Given the description of an element on the screen output the (x, y) to click on. 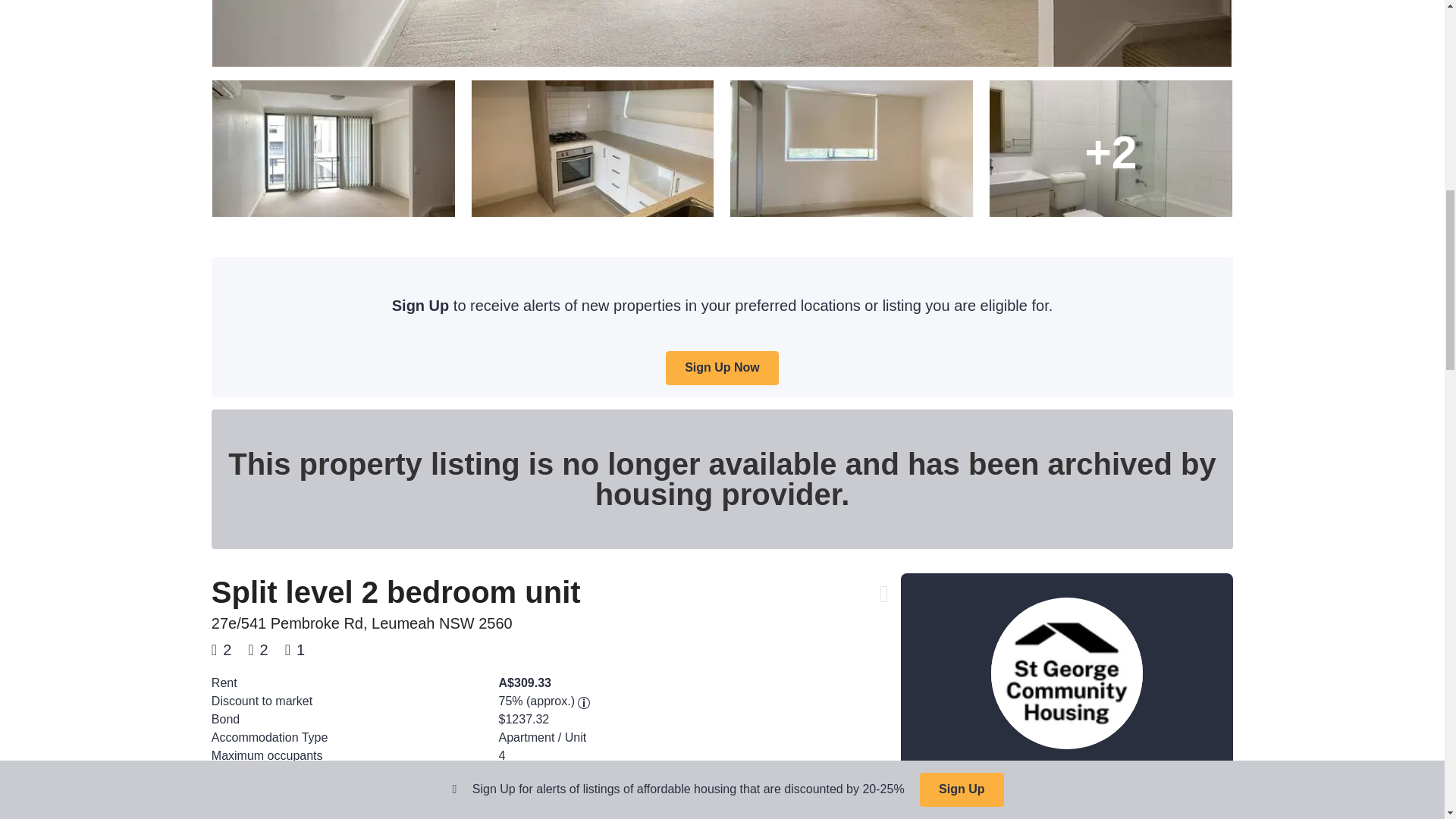
SGCH (1066, 812)
Discount to market as assessed by the AHP. (583, 702)
Sign Up Now (721, 367)
